Given the description of an element on the screen output the (x, y) to click on. 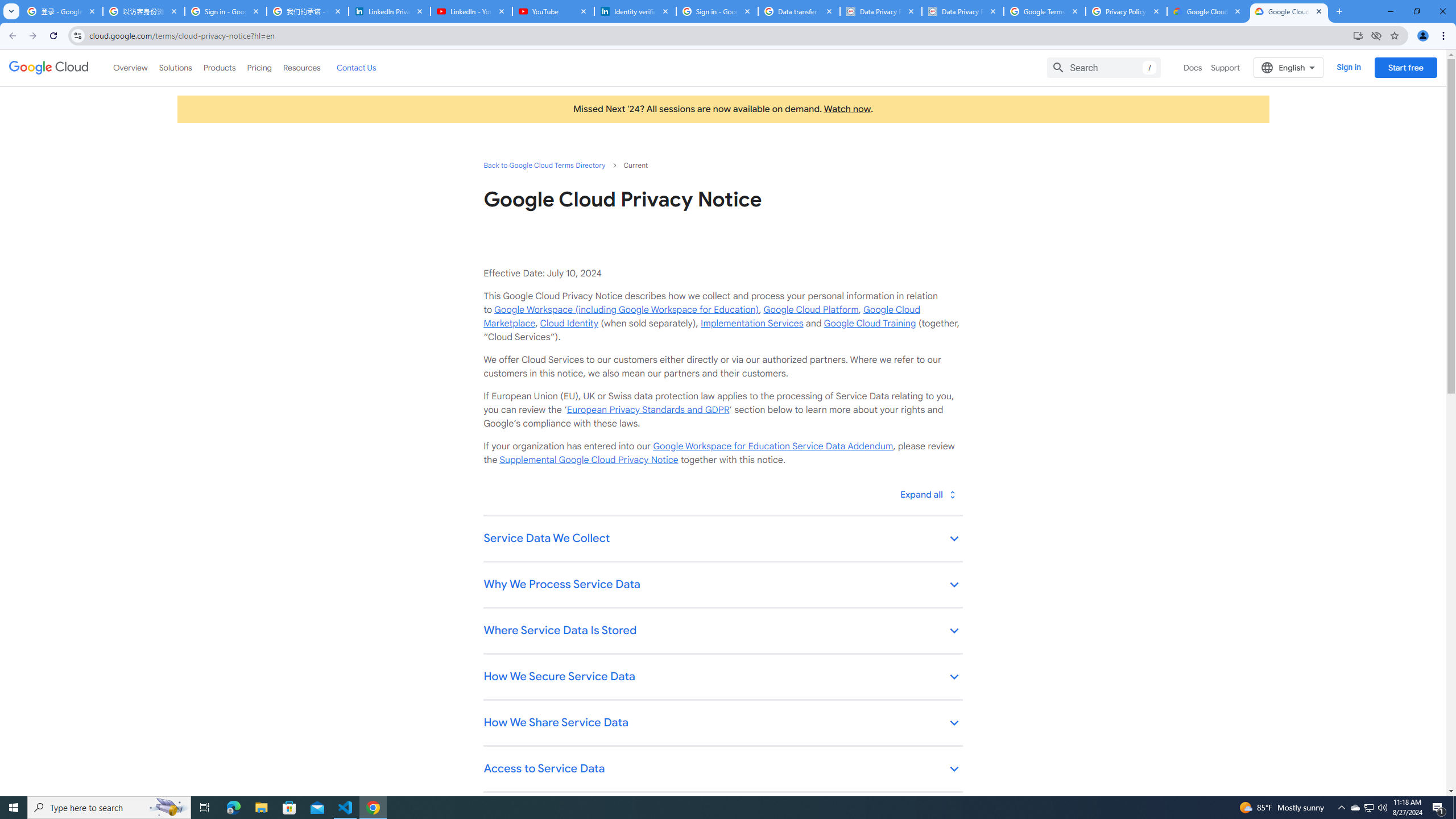
Google Cloud Marketplace (701, 316)
Google Workspace (including Google Workspace for Education) (625, 309)
How We Share Service Data keyboard_arrow_down (722, 723)
Data Privacy Framework (963, 11)
Data Privacy Framework (880, 11)
Sign in - Google Accounts (225, 11)
Access to Service Data keyboard_arrow_down (722, 769)
Why We Process Service Data keyboard_arrow_down (722, 585)
